Given the description of an element on the screen output the (x, y) to click on. 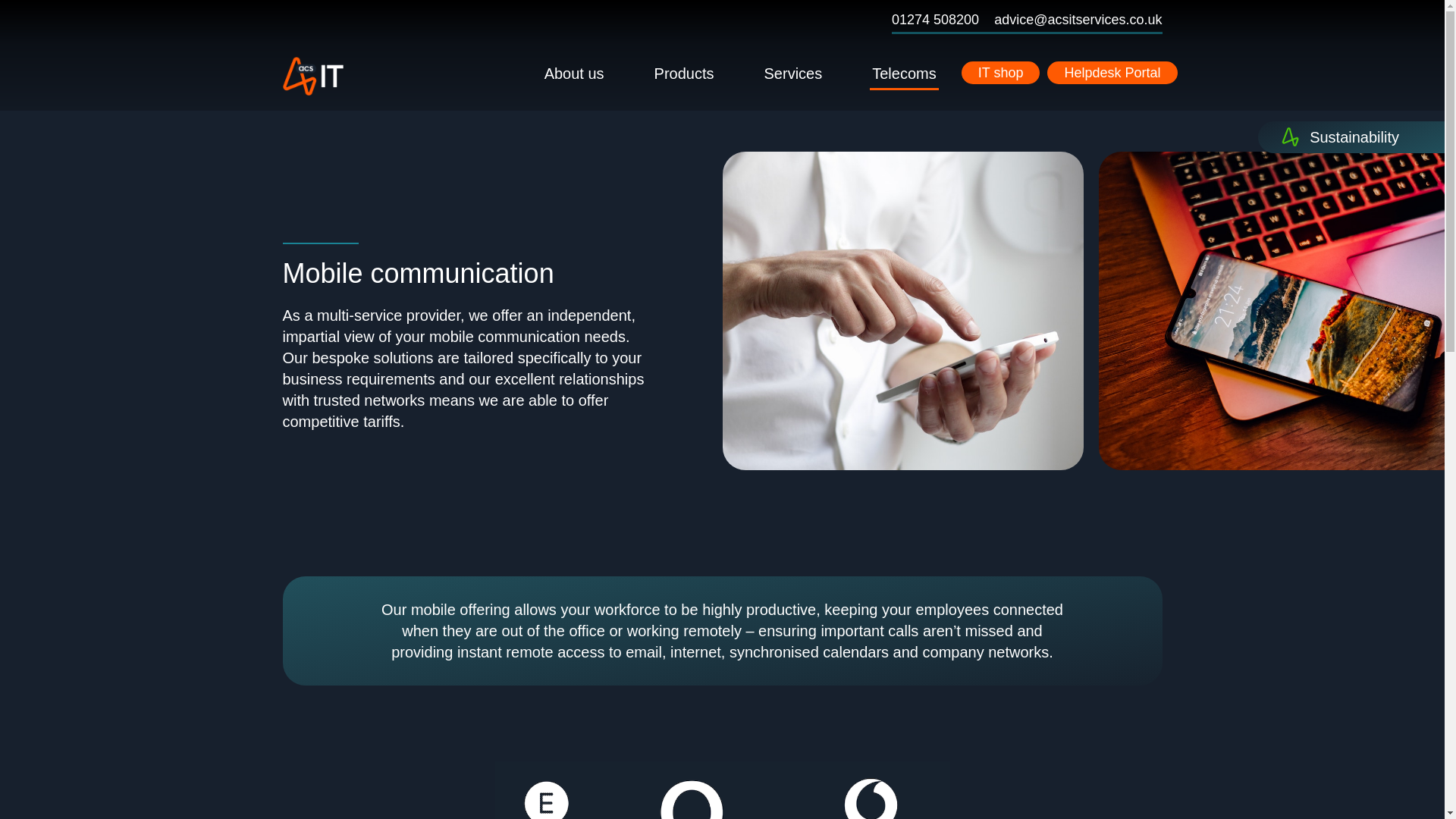
About us (574, 74)
Helpdesk Portal (1111, 72)
01274 508200 (934, 19)
IT shop (1000, 72)
